Given the description of an element on the screen output the (x, y) to click on. 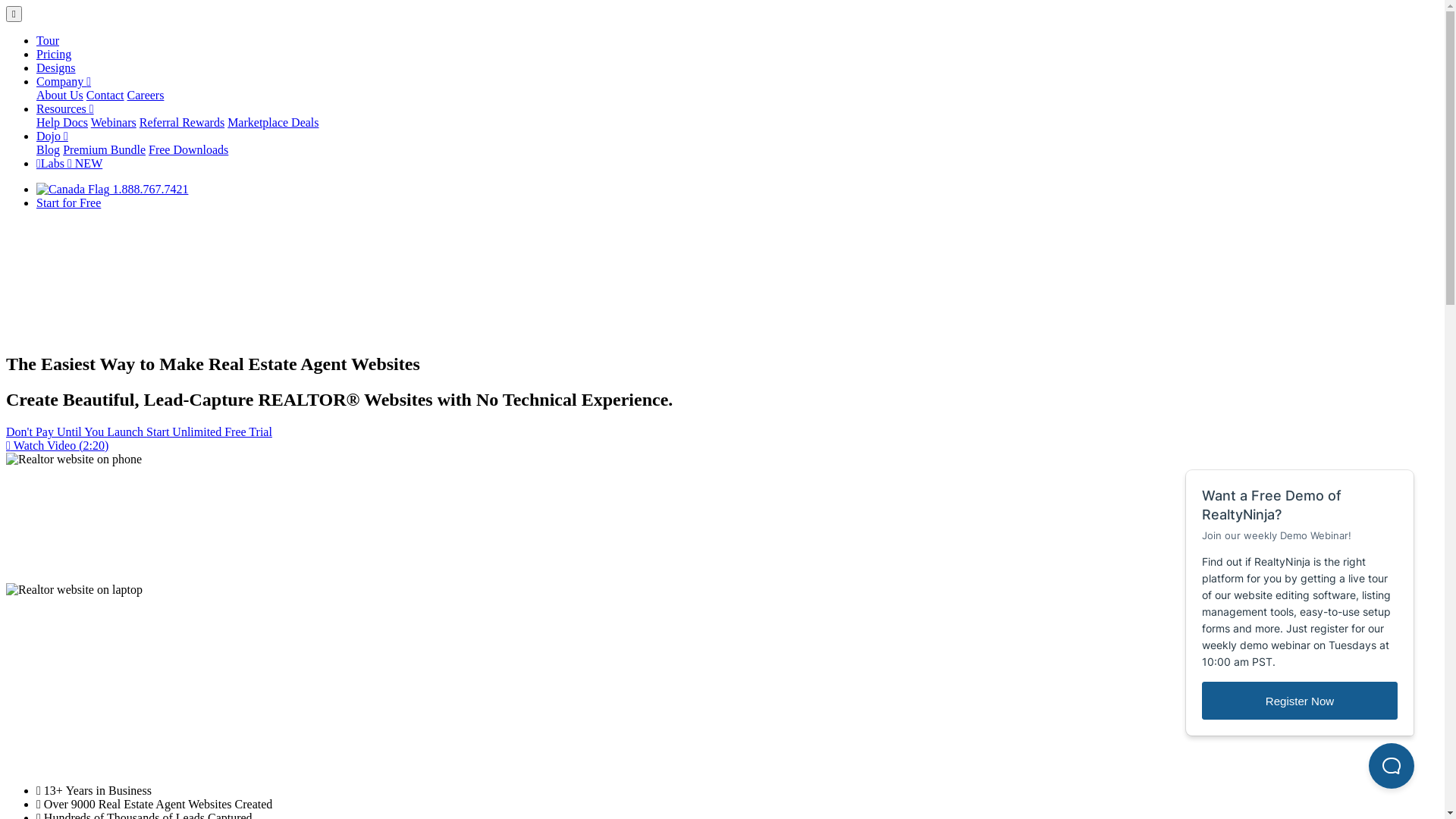
Free Downloads Element type: text (188, 149)
Designs Element type: text (55, 67)
Watch Video (2:20) Element type: text (57, 445)
Dojo Element type: text (52, 135)
Tour Element type: text (47, 40)
Contact Element type: text (105, 94)
Referral Rewards Element type: text (181, 122)
Resources Element type: text (65, 108)
Help Scout Beacon - Messages and Notifications Element type: hover (1300, 587)
Webinars Element type: text (113, 122)
Careers Element type: text (145, 94)
Help Docs Element type: text (61, 122)
1.888.767.7421 Element type: text (112, 188)
Pricing Element type: text (53, 53)
About Us Element type: text (59, 94)
Premium Bundle Element type: text (103, 149)
Help Scout Beacon - Open Element type: hover (1391, 765)
Marketplace Deals Element type: text (272, 122)
Start for Free Element type: text (68, 202)
Company Element type: text (63, 81)
Don't Pay Until You Launch Start Unlimited Free Trial Element type: text (139, 431)
Blog Element type: text (47, 149)
